Given the description of an element on the screen output the (x, y) to click on. 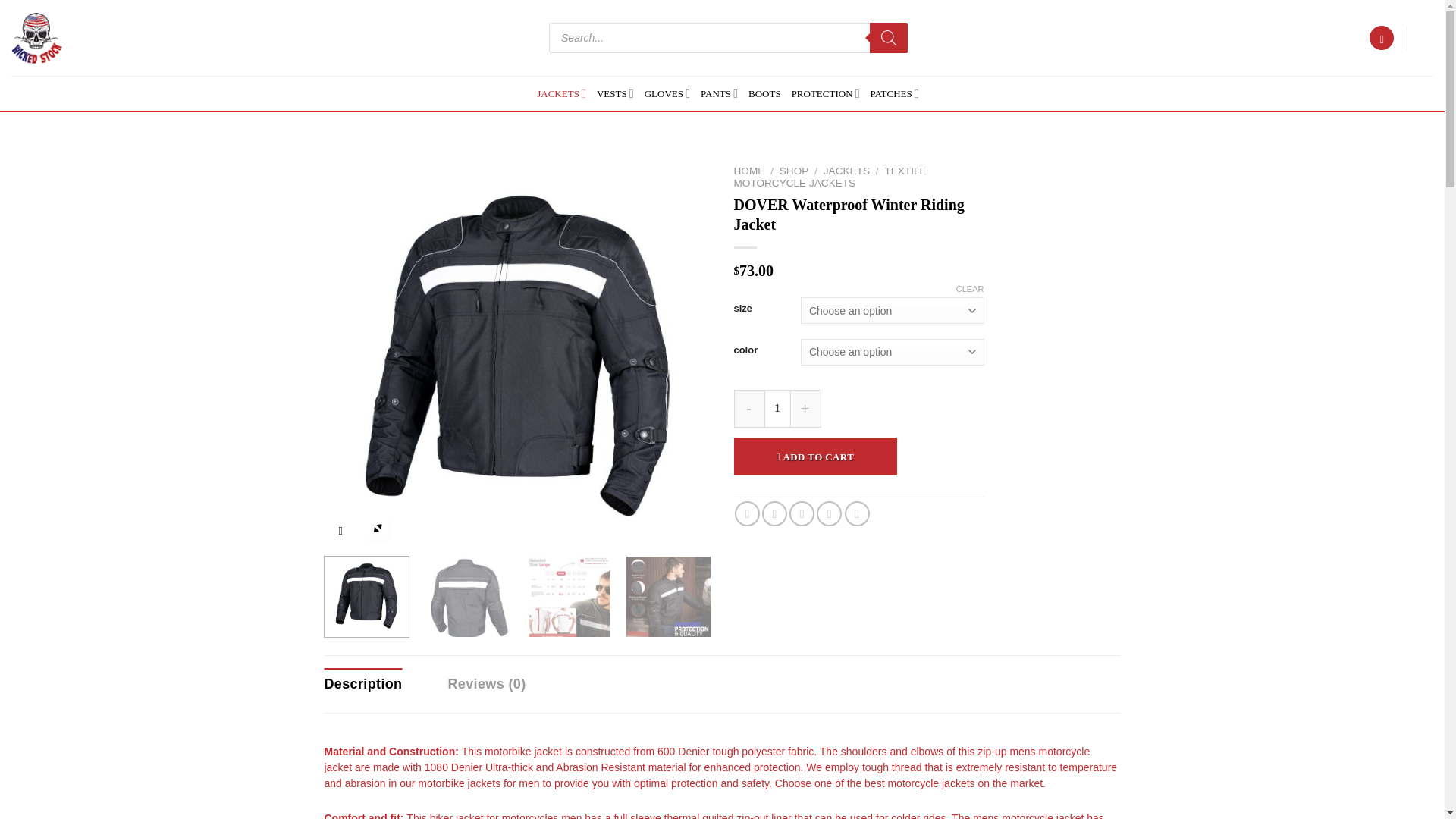
GLOVES (667, 93)
PROTECTION (826, 93)
VESTS (614, 93)
Email to a Friend (801, 513)
PATCHES (894, 93)
Wicked Stock (38, 38)
Pin on Pinterest (828, 513)
PANTS (719, 93)
Share on Facebook (747, 513)
Share on LinkedIn (856, 513)
BOOTS (764, 93)
Zoom (377, 529)
JACKETS (561, 93)
Share on Twitter (774, 513)
